Given the description of an element on the screen output the (x, y) to click on. 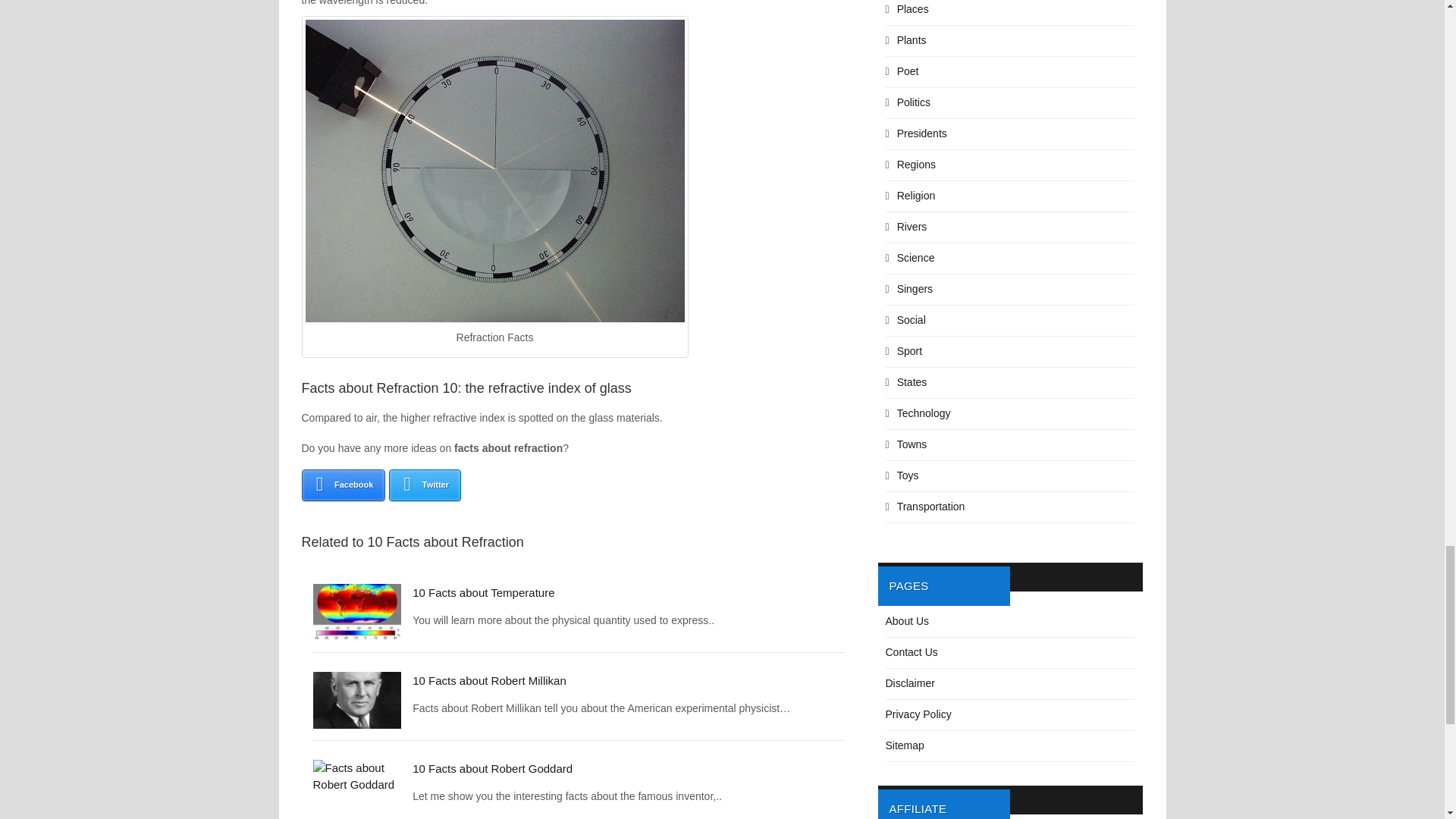
10 Facts about Robert Goddard (492, 768)
Facebook (343, 485)
10 Facts about Temperature (483, 592)
Twitter (424, 485)
10 Facts about Robert Millikan (489, 680)
